Given the description of an element on the screen output the (x, y) to click on. 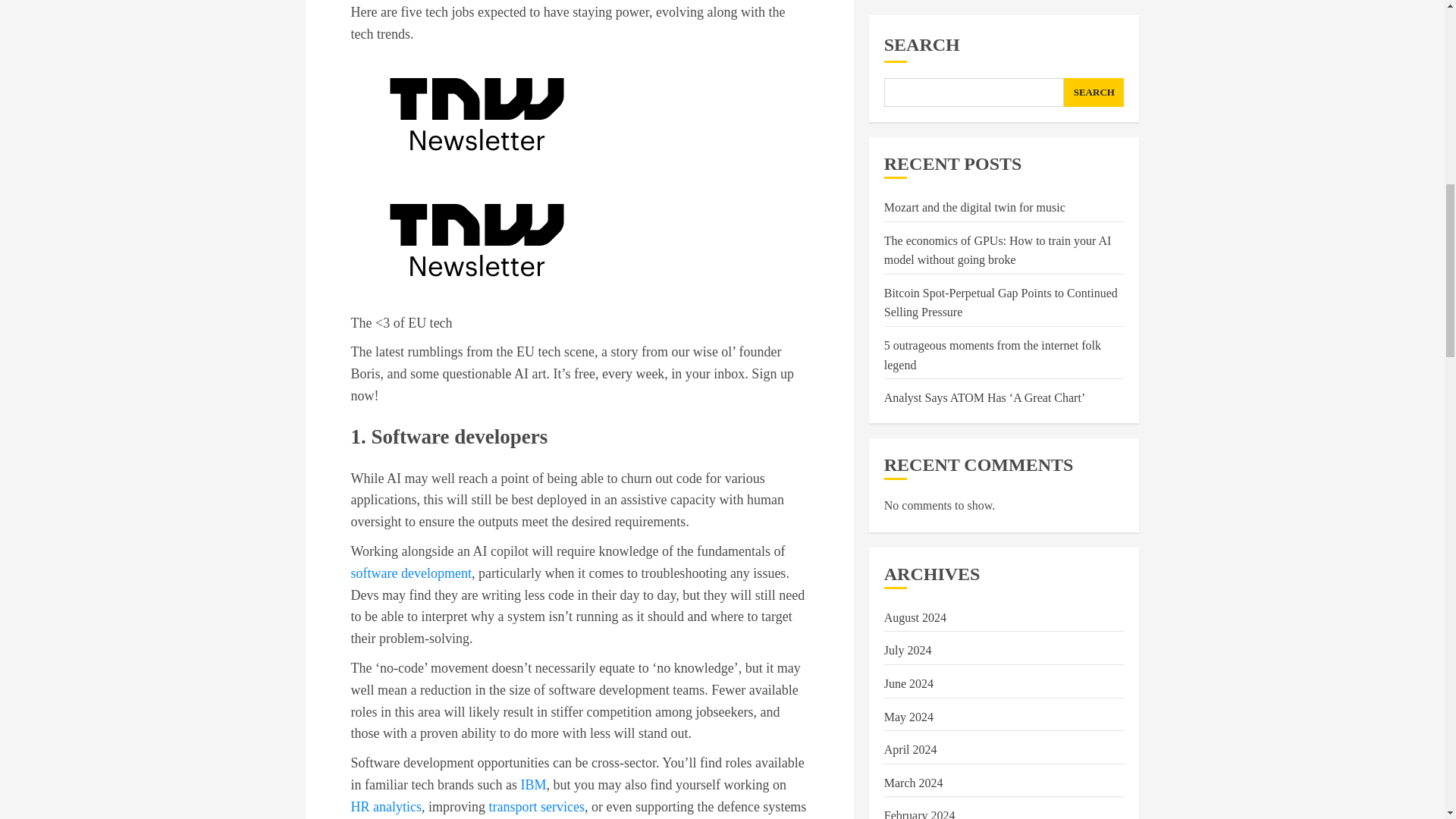
software development (410, 572)
HR analytics (385, 806)
transport services (534, 806)
IBM (532, 784)
